Given the description of an element on the screen output the (x, y) to click on. 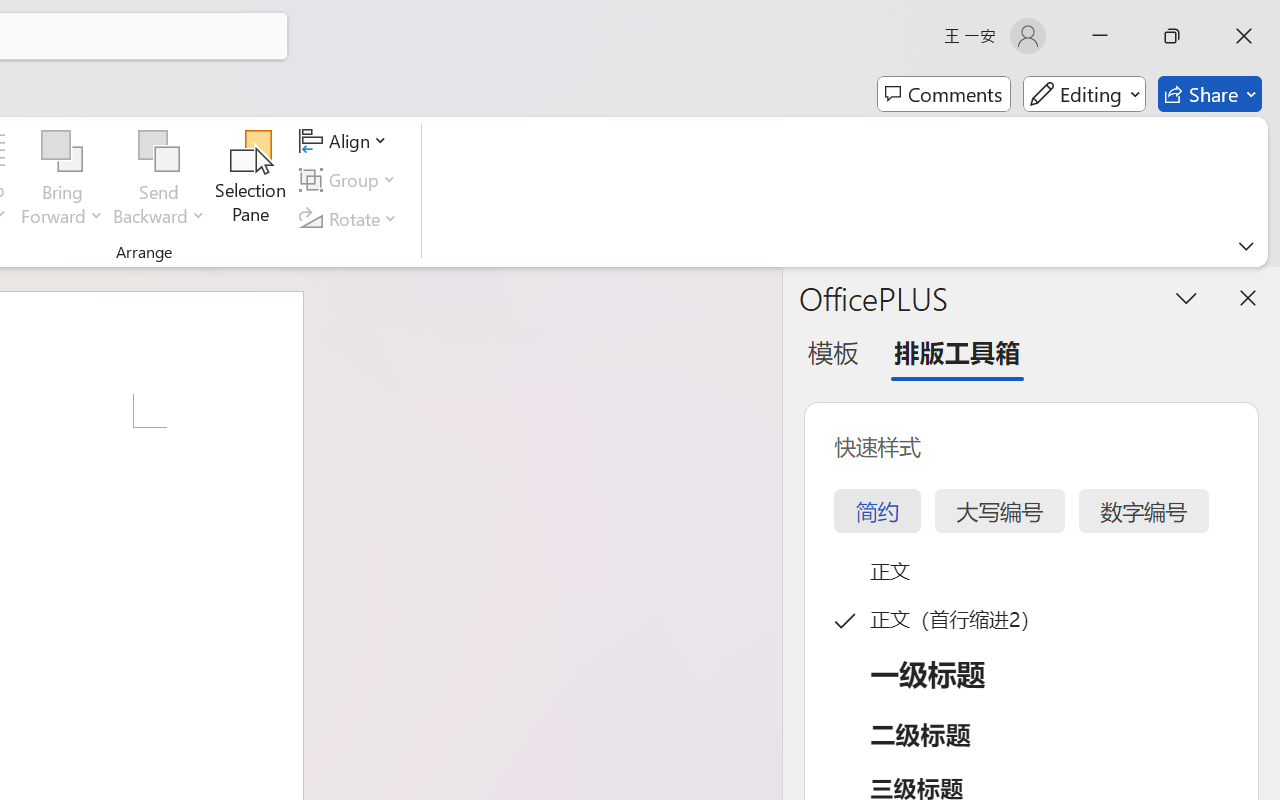
Send Backward (159, 179)
Bring Forward (62, 179)
Bring Forward (62, 151)
Send Backward (159, 151)
Group (351, 179)
Selection Pane... (251, 179)
Align (346, 141)
